Given the description of an element on the screen output the (x, y) to click on. 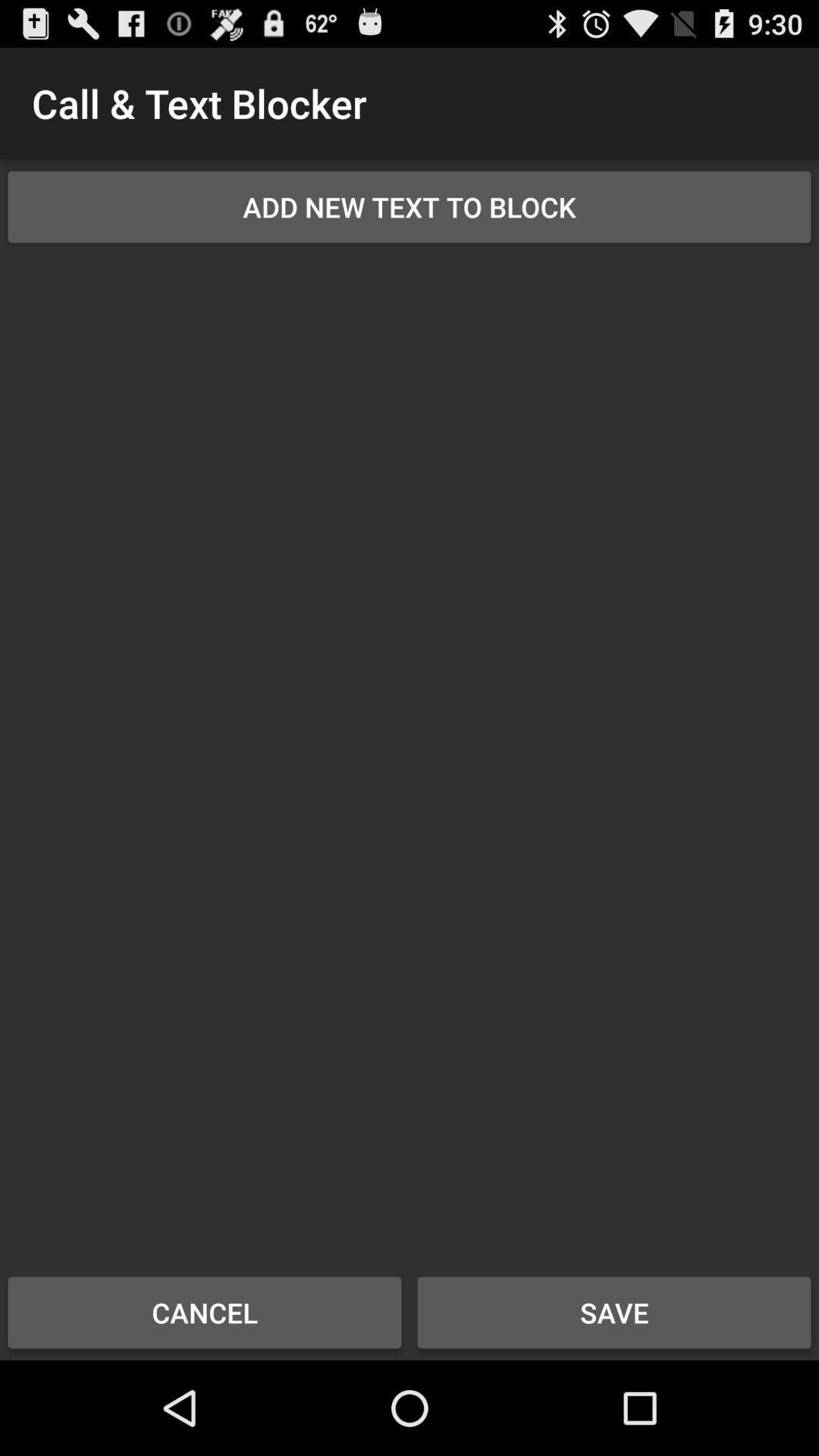
choose the item at the center (409, 749)
